Given the description of an element on the screen output the (x, y) to click on. 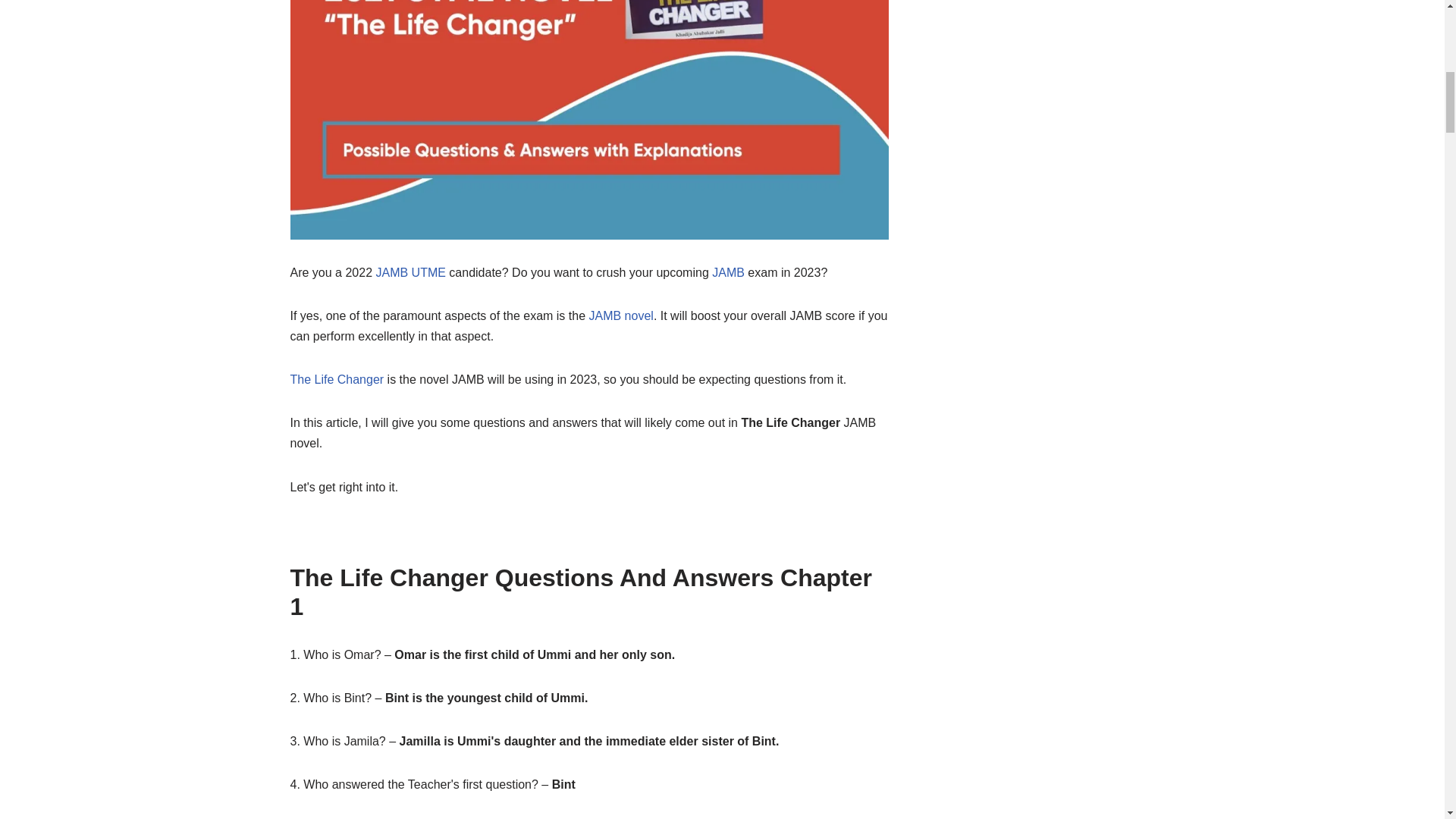
Posts tagged with The Life Changer (336, 379)
Posts tagged with JAMB Novel (620, 315)
Posts tagged with JAMB UTME (410, 272)
Posts tagged with JAMB (727, 272)
